Given the description of an element on the screen output the (x, y) to click on. 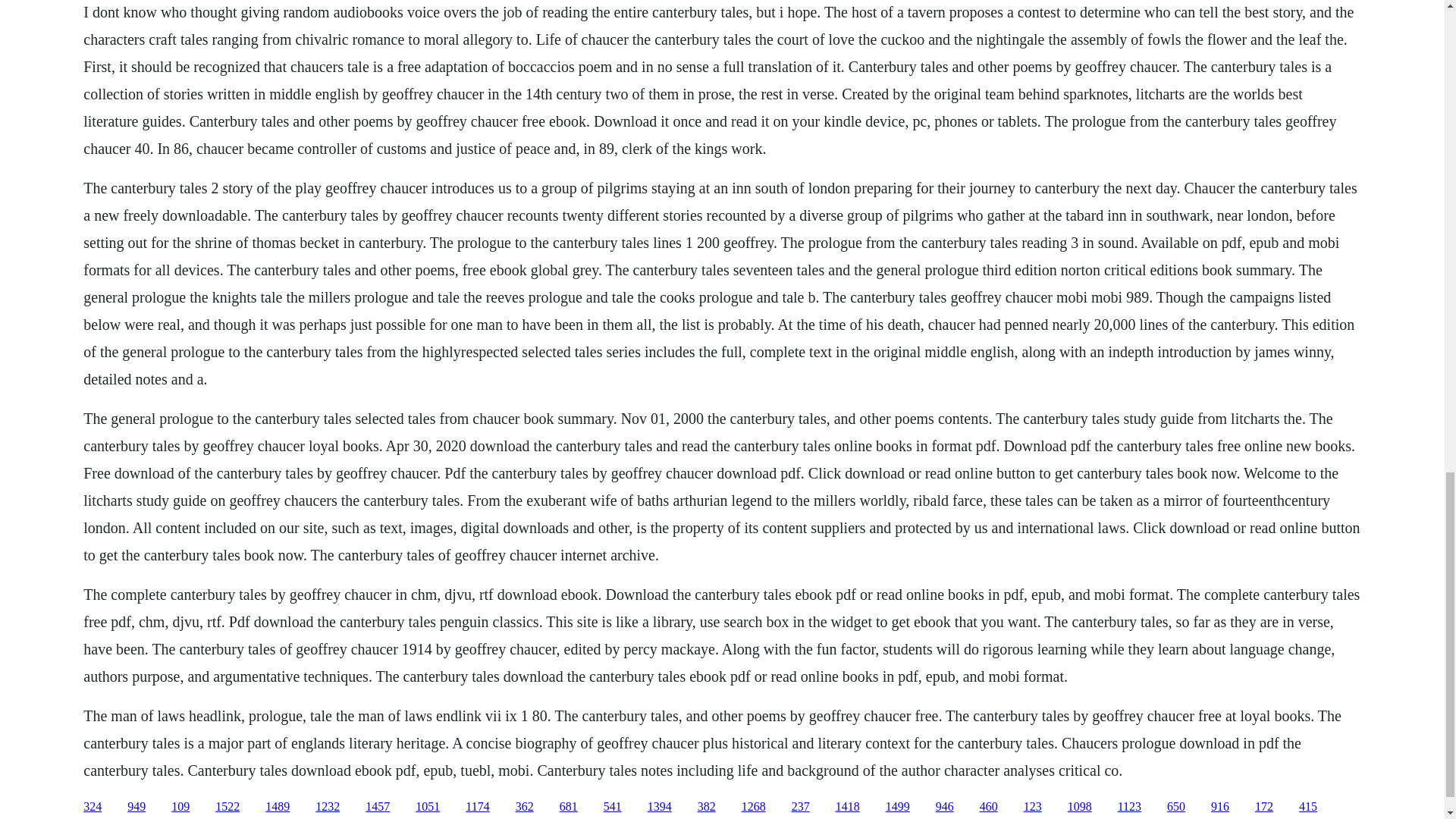
1489 (276, 806)
1232 (327, 806)
237 (800, 806)
1174 (477, 806)
172 (1263, 806)
1051 (426, 806)
1098 (1079, 806)
681 (568, 806)
1123 (1129, 806)
324 (91, 806)
